Given the description of an element on the screen output the (x, y) to click on. 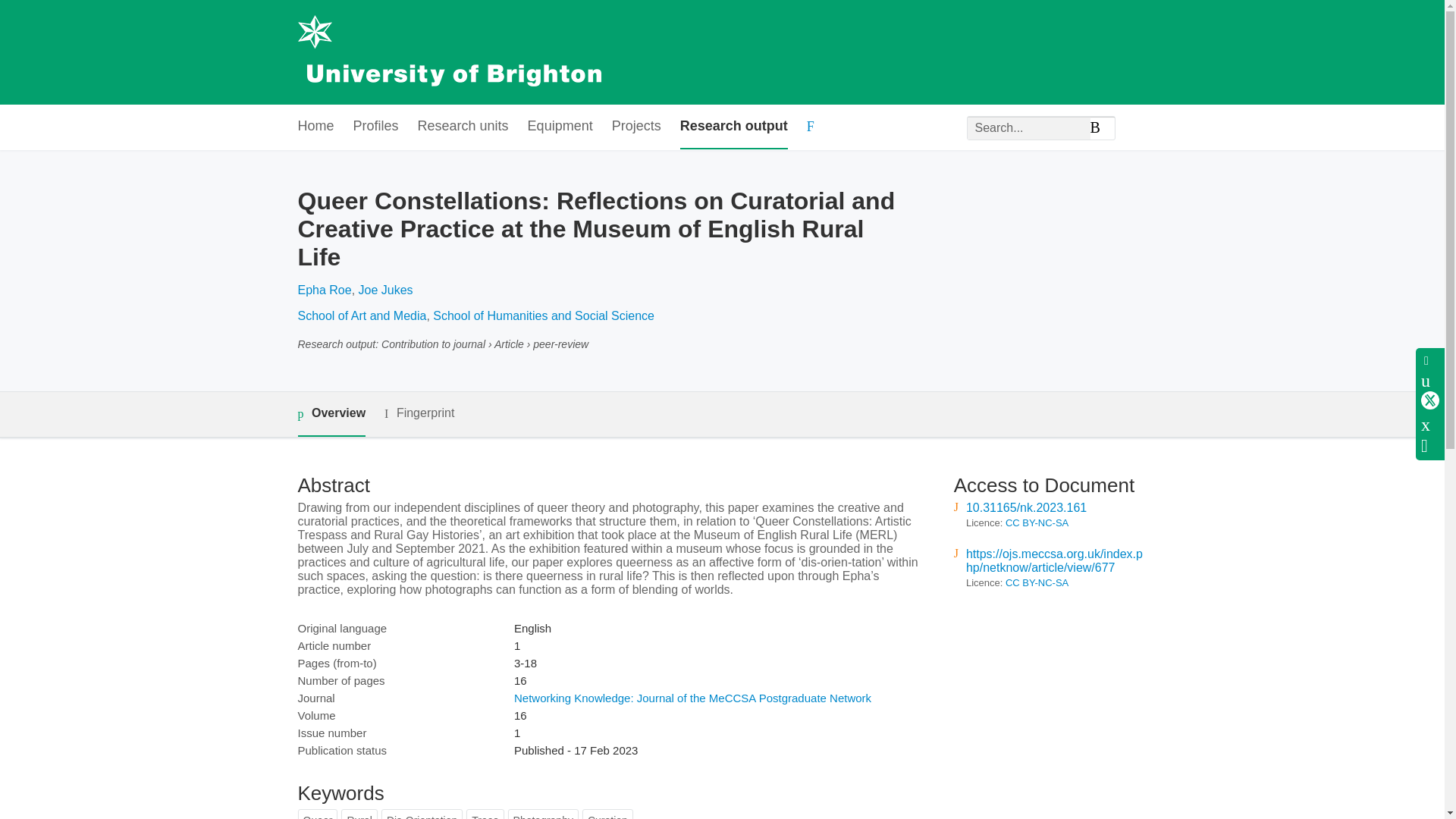
CC BY-NC-SA (1037, 522)
Epha Roe (323, 289)
School of Art and Media (361, 315)
Fingerprint (419, 413)
School of Humanities and Social Science (542, 315)
CC BY-NC-SA (1037, 582)
Profiles (375, 126)
Research output (733, 126)
